Given the description of an element on the screen output the (x, y) to click on. 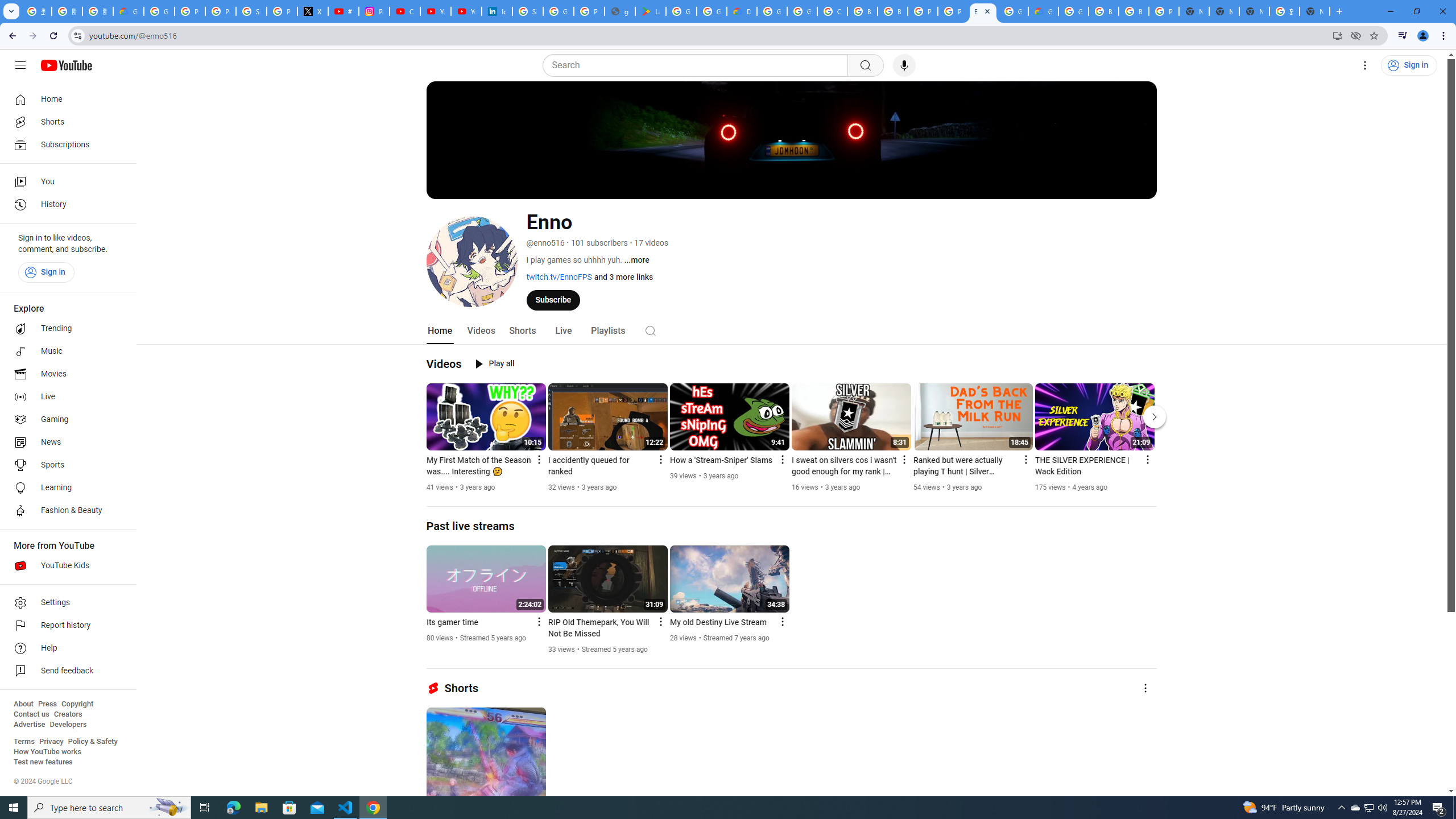
Install YouTube (1336, 35)
Gaming (64, 419)
twitch.tv/EnnoFPS (558, 276)
Music (64, 350)
Live (64, 396)
Browse Chrome as a guest - Computer - Google Chrome Help (862, 11)
Test new features (42, 761)
Action menu (781, 621)
Learning (64, 487)
Subscribe (552, 299)
